Given the description of an element on the screen output the (x, y) to click on. 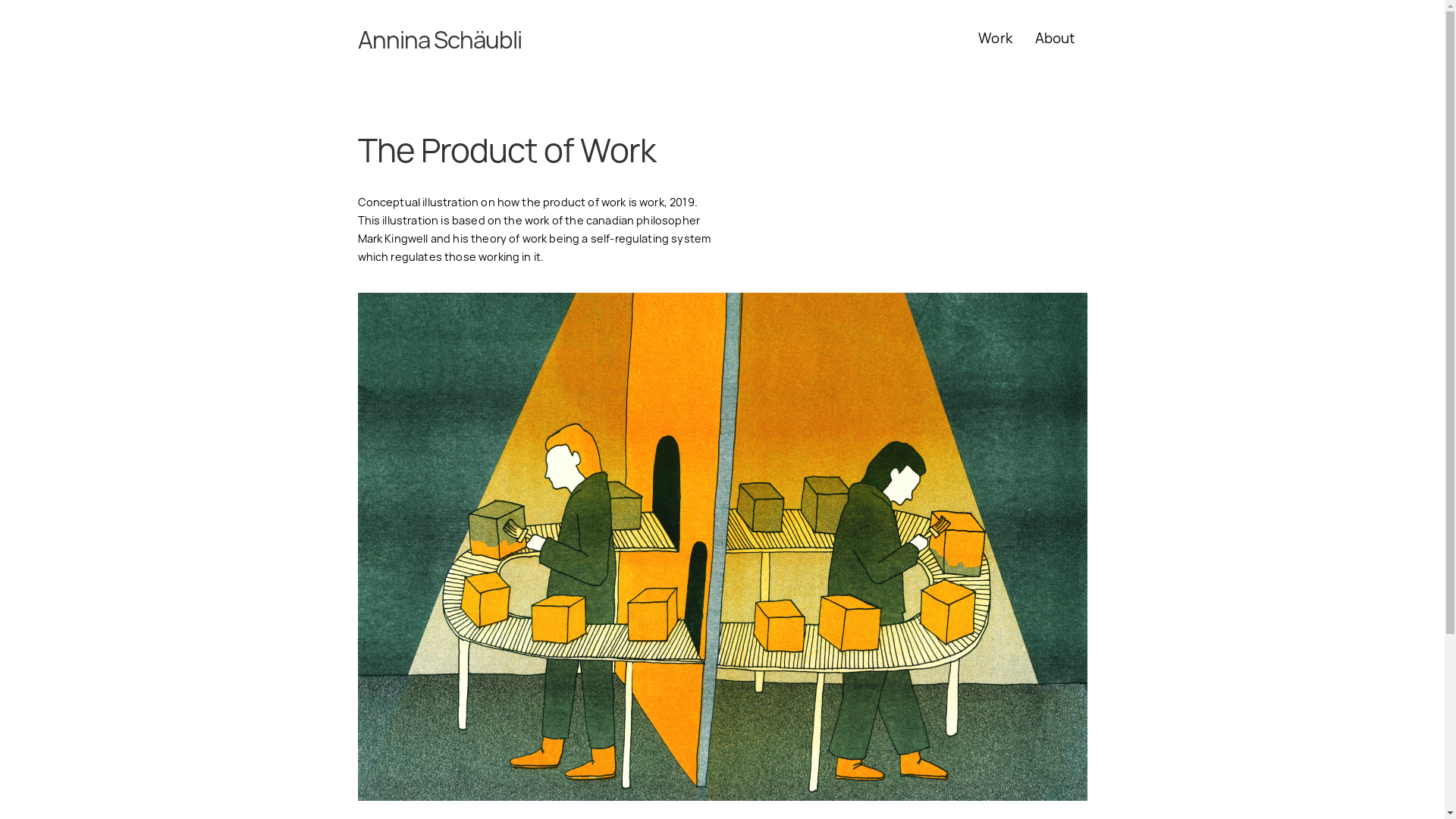
Work Element type: text (994, 38)
About Element type: text (1055, 38)
Laufband_Web Element type: hover (722, 546)
